Given the description of an element on the screen output the (x, y) to click on. 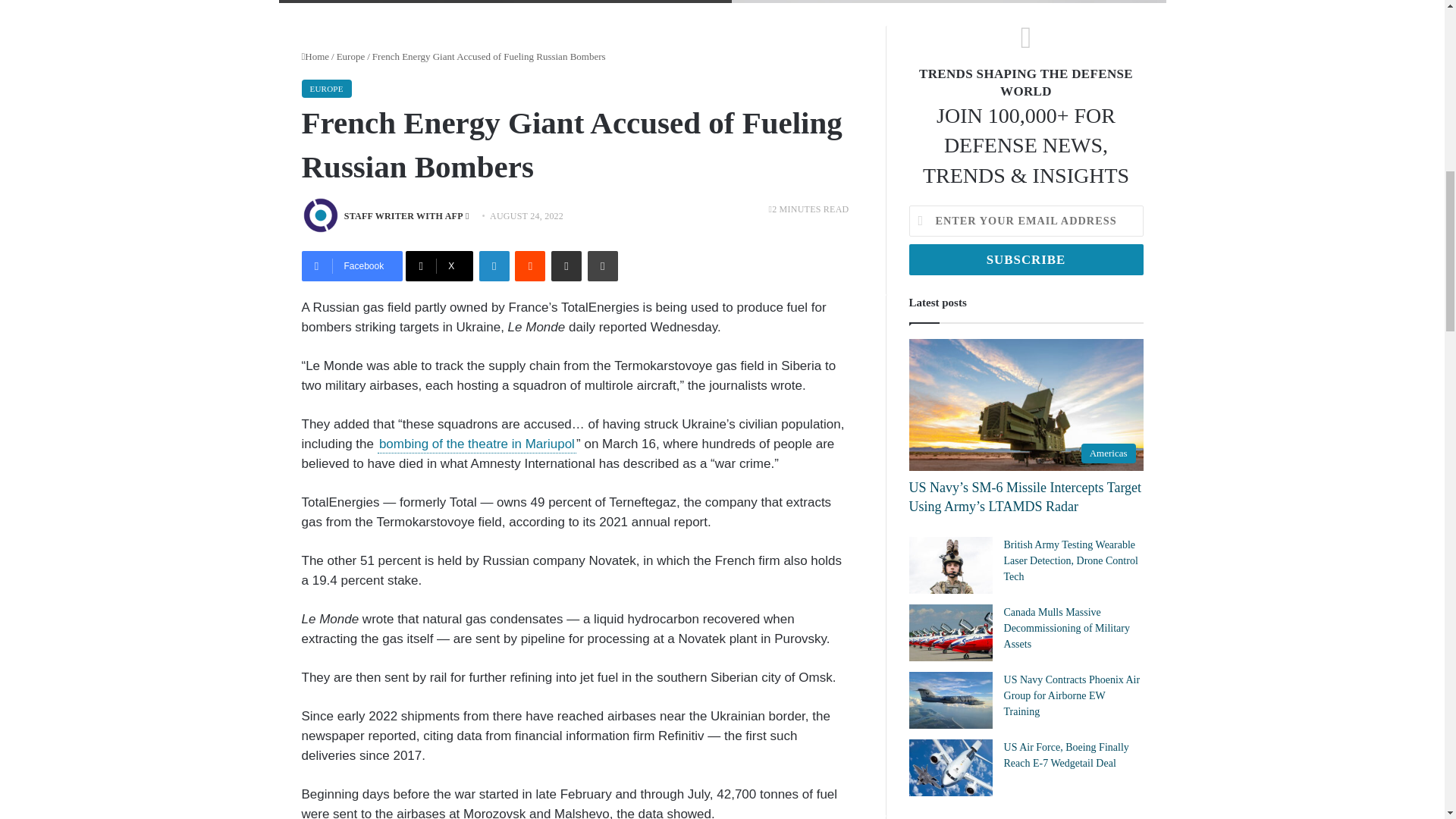
Reddit (529, 265)
Subscribe (1025, 259)
Facebook (352, 265)
Share via Email (565, 265)
STAFF WRITER WITH AFP (403, 215)
X (439, 265)
Europe (350, 56)
EUROPE (326, 88)
Reddit (529, 265)
LinkedIn (494, 265)
Print (602, 265)
Home (315, 56)
Staff Writer With AFP (403, 215)
X (439, 265)
Facebook (352, 265)
